Given the description of an element on the screen output the (x, y) to click on. 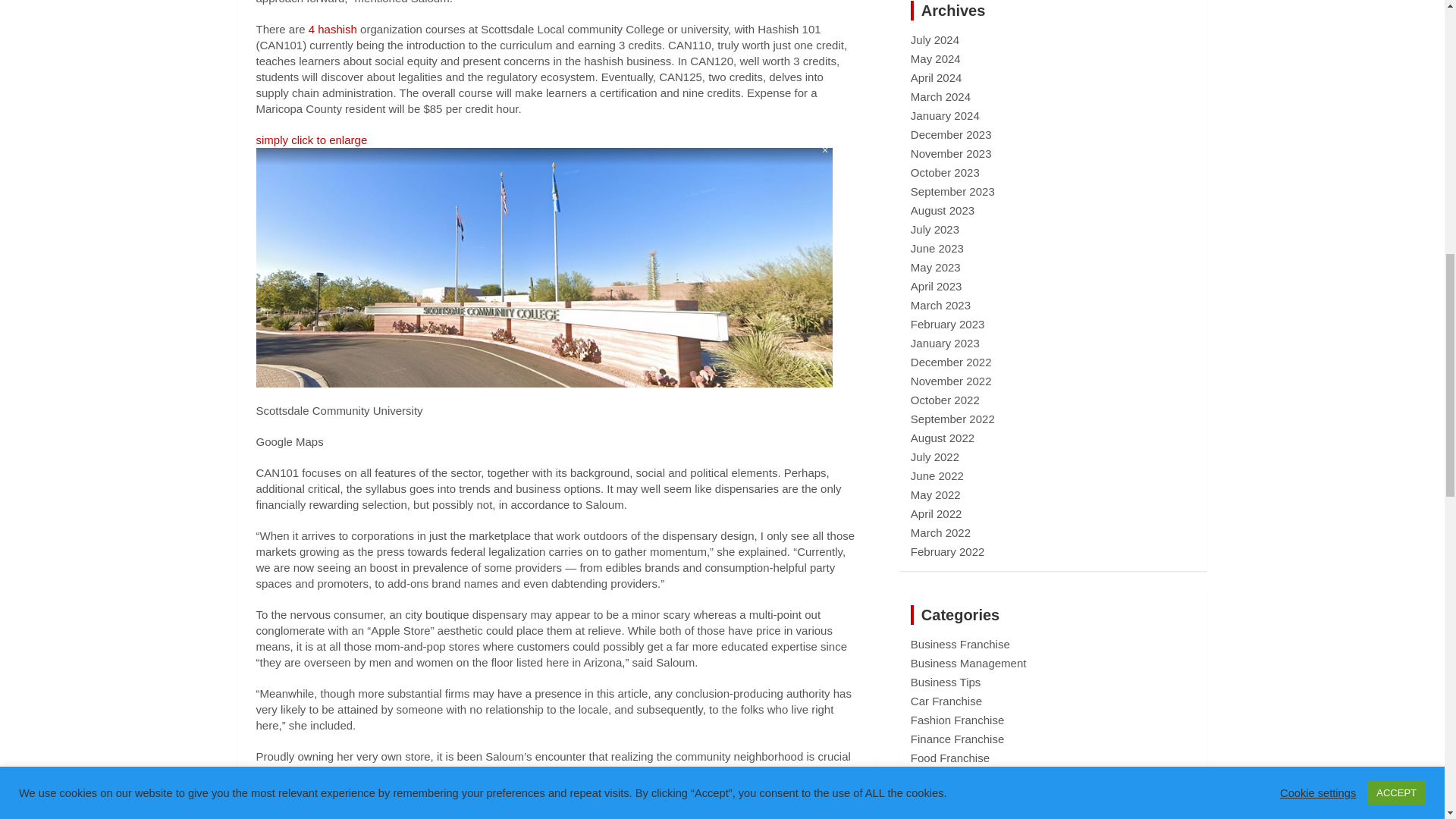
Scottsdale Community College - GOOGLE MAPS (544, 147)
July 2024 (935, 39)
4 hashish (332, 29)
simply click to enlarge (544, 147)
